Given the description of an element on the screen output the (x, y) to click on. 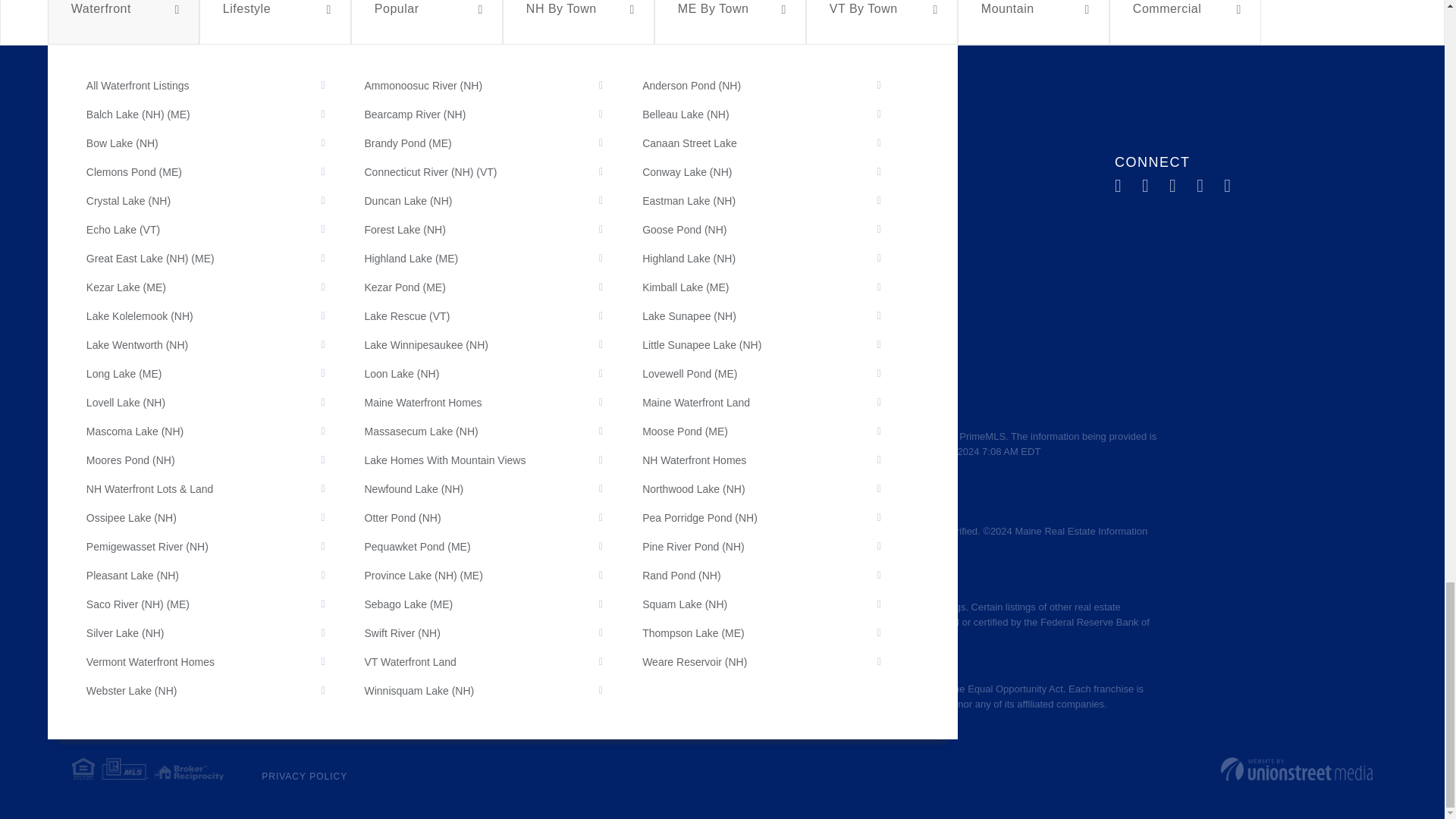
Connecticut River (499, 171)
Bearcamp River Waterfront Homes (499, 114)
Crystal Lake (220, 200)
Duncan Lake (499, 200)
Eastman Pond (777, 200)
Canaan Street Lake Waterfront Homes (777, 142)
All Waterfront Listings (220, 85)
Ammonoosuc River Waterfront Homes (499, 85)
Conway Lake Waterfront Homes (777, 171)
Belleau Lake (777, 114)
